Given the description of an element on the screen output the (x, y) to click on. 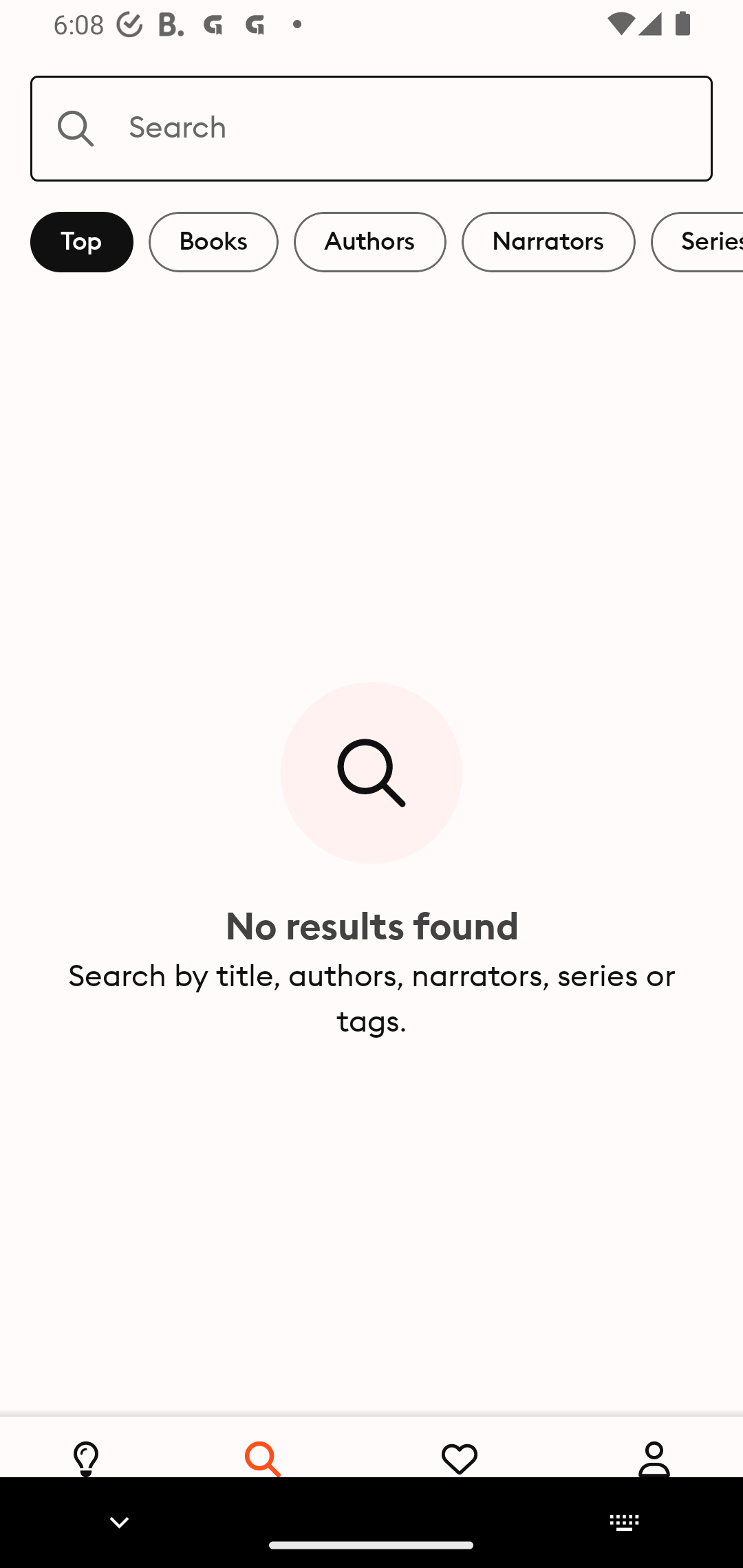
Search (371, 128)
Top (81, 241)
Books (213, 241)
Authors (369, 241)
Narrators (548, 241)
Series (696, 241)
